Given the description of an element on the screen output the (x, y) to click on. 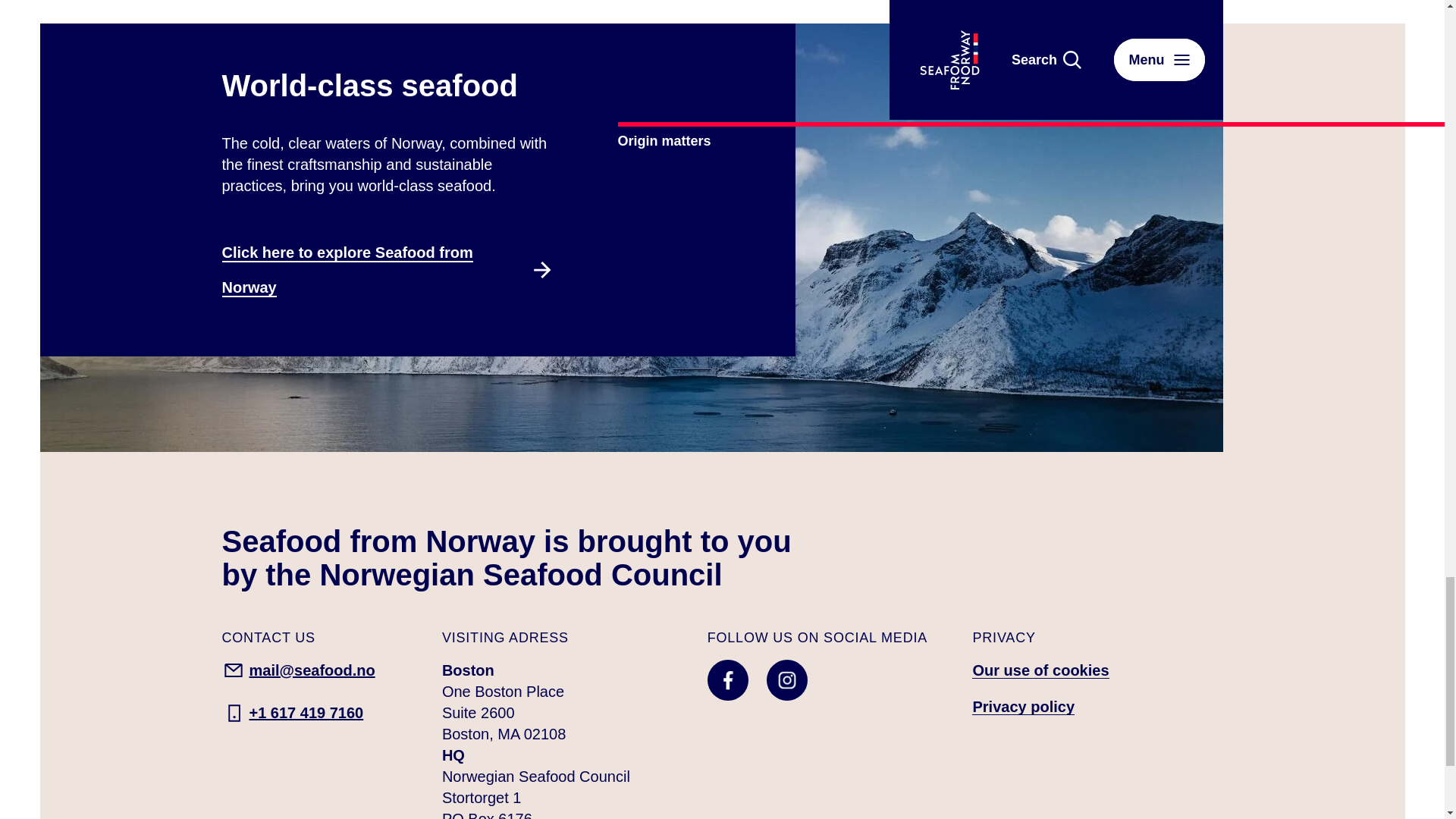
Privacy policy (1023, 706)
Our use of cookies (1040, 669)
